Given the description of an element on the screen output the (x, y) to click on. 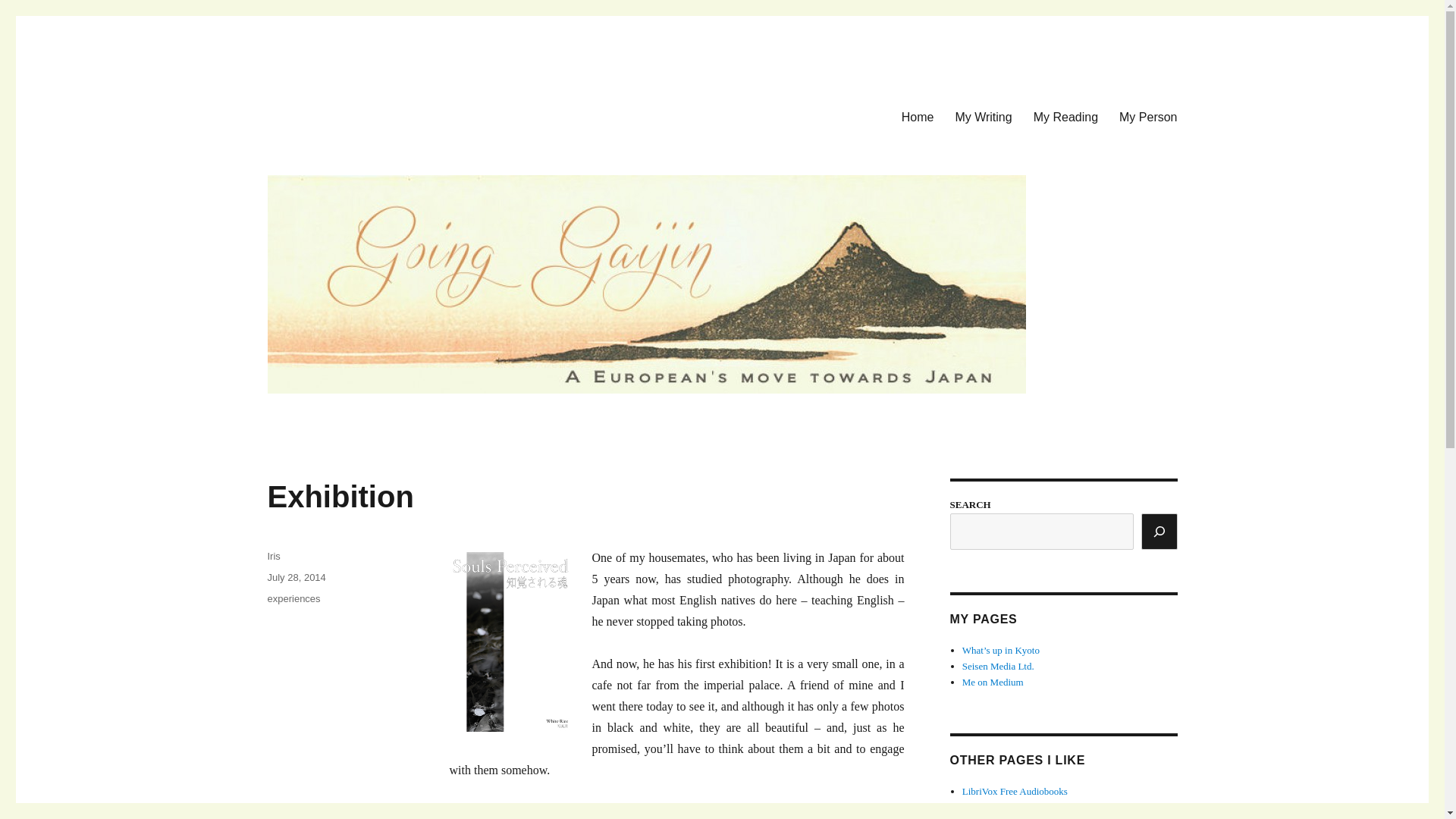
Home (917, 116)
goinggaijin.com (347, 114)
My Reading (1065, 116)
Iris (272, 555)
Me on Medium (992, 681)
My Writing (982, 116)
experiences (293, 598)
Writers in Kyoto (995, 818)
LibriVox Free Audiobooks (1014, 790)
July 28, 2014 (295, 577)
